Given the description of an element on the screen output the (x, y) to click on. 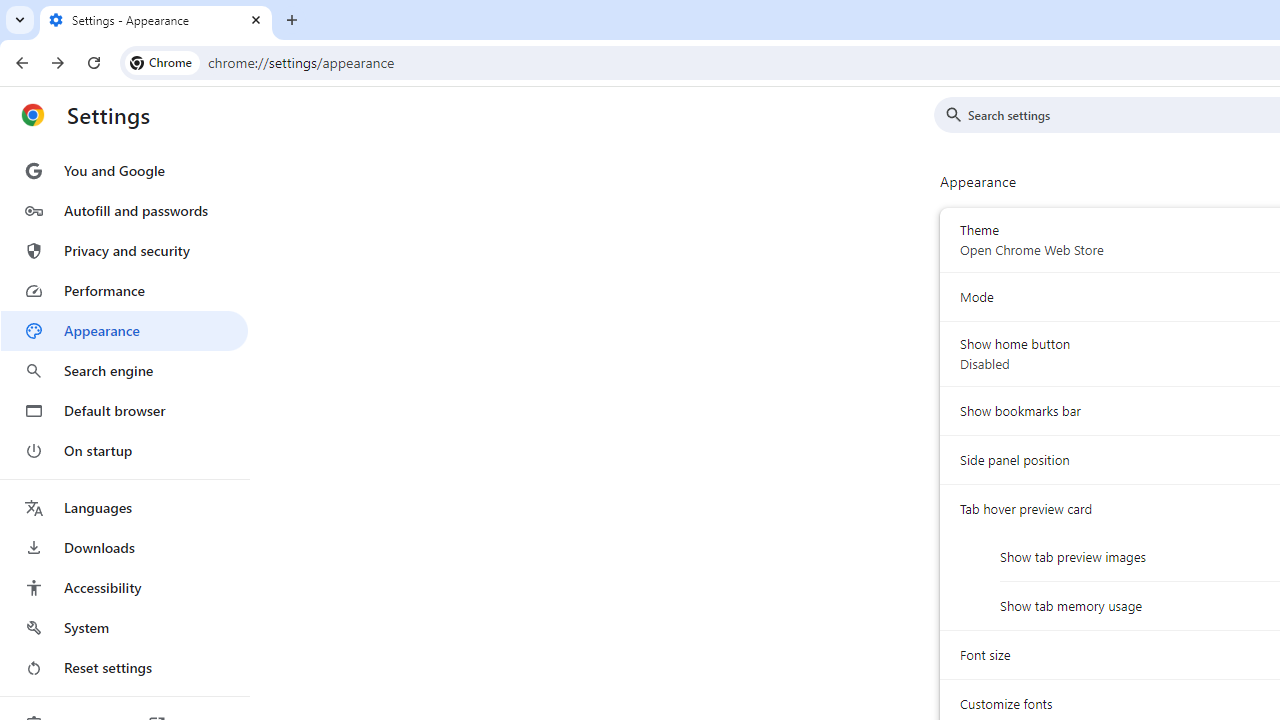
Search engine (124, 370)
Settings - Appearance (156, 20)
Languages (124, 507)
Autofill and passwords (124, 210)
Accessibility (124, 587)
Appearance (124, 331)
Default browser (124, 410)
You and Google (124, 170)
